Given the description of an element on the screen output the (x, y) to click on. 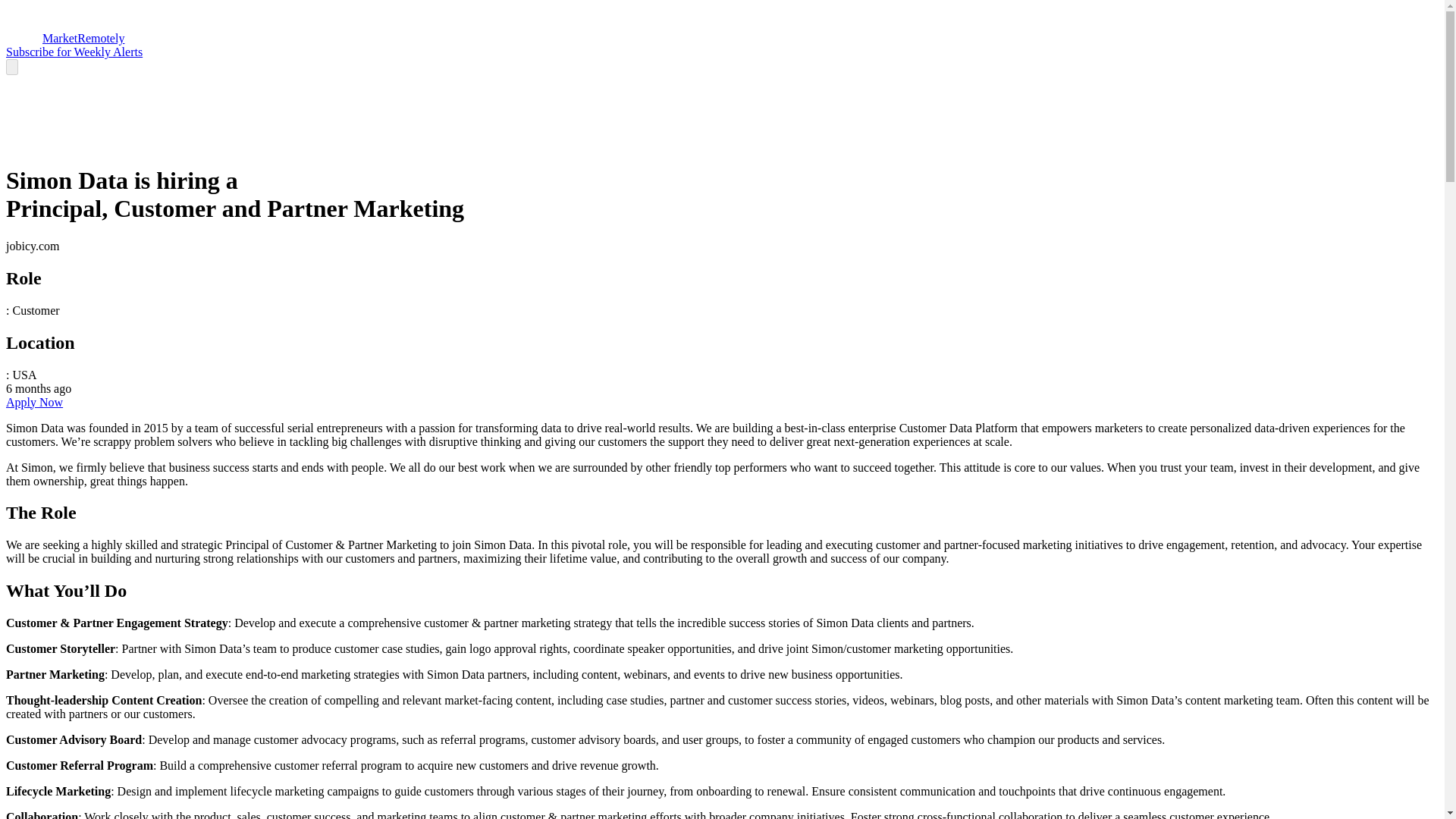
Apply Now (33, 401)
MarketRemotely (64, 38)
Subscribe for Weekly Alerts (73, 51)
